Given the description of an element on the screen output the (x, y) to click on. 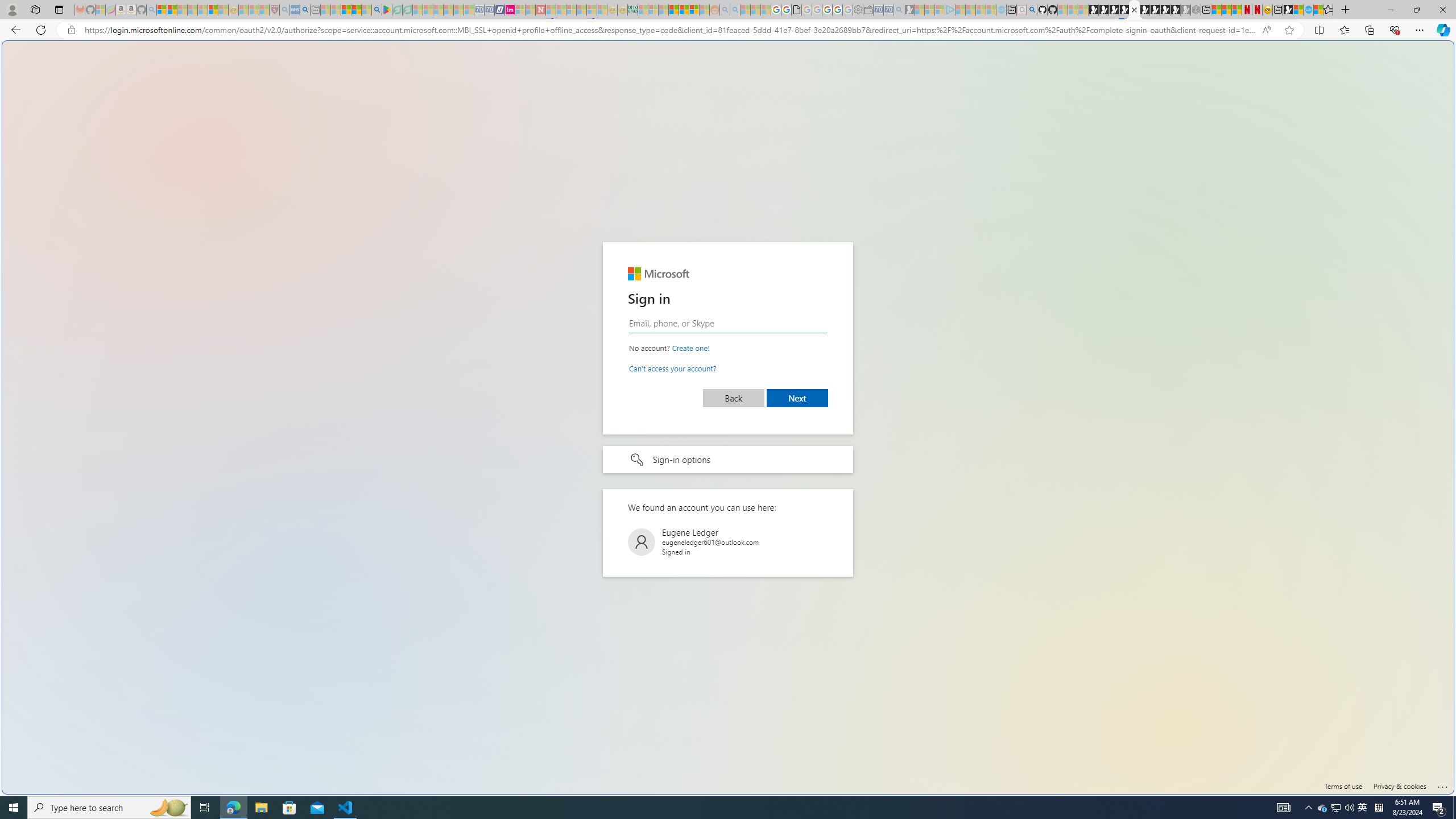
Enter your email, phone, or Skype. (727, 323)
